Given the description of an element on the screen output the (x, y) to click on. 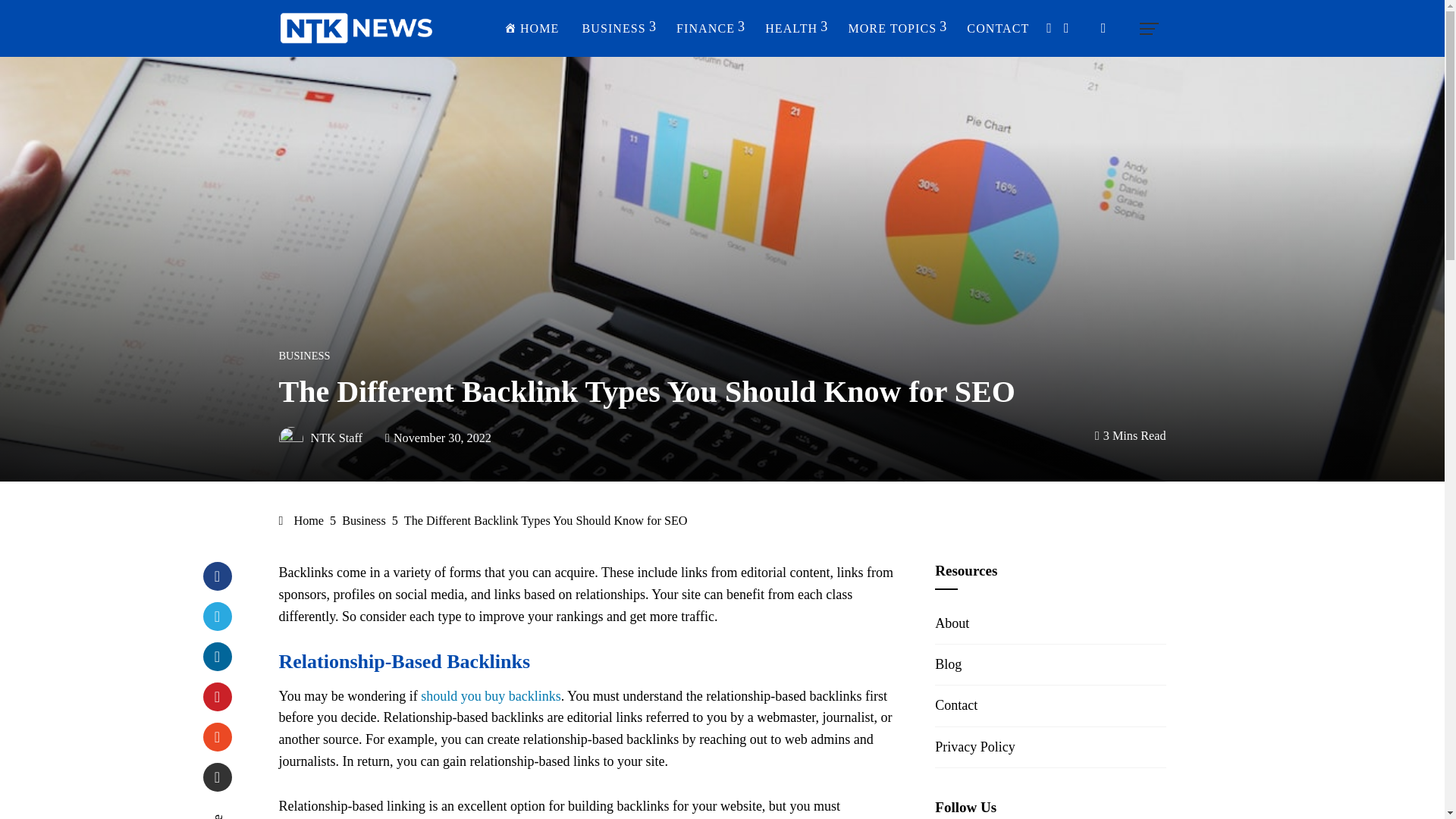
FINANCE (709, 28)
MORE TOPICS (895, 28)
HOME (531, 28)
HEALTH (795, 28)
BUSINESS (616, 28)
